Given the description of an element on the screen output the (x, y) to click on. 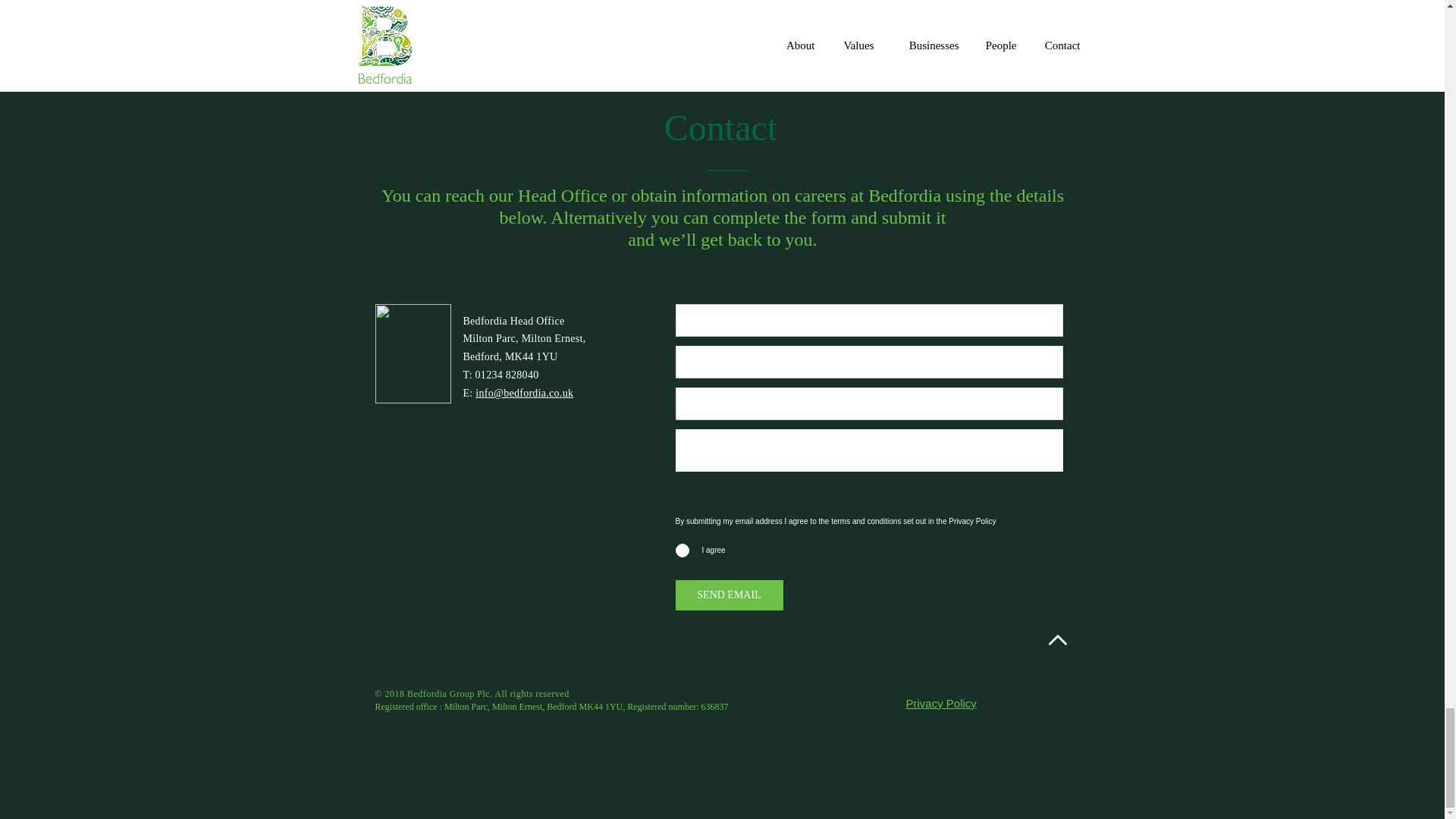
Privacy Policy (940, 703)
SEND EMAIL (729, 594)
